Given the description of an element on the screen output the (x, y) to click on. 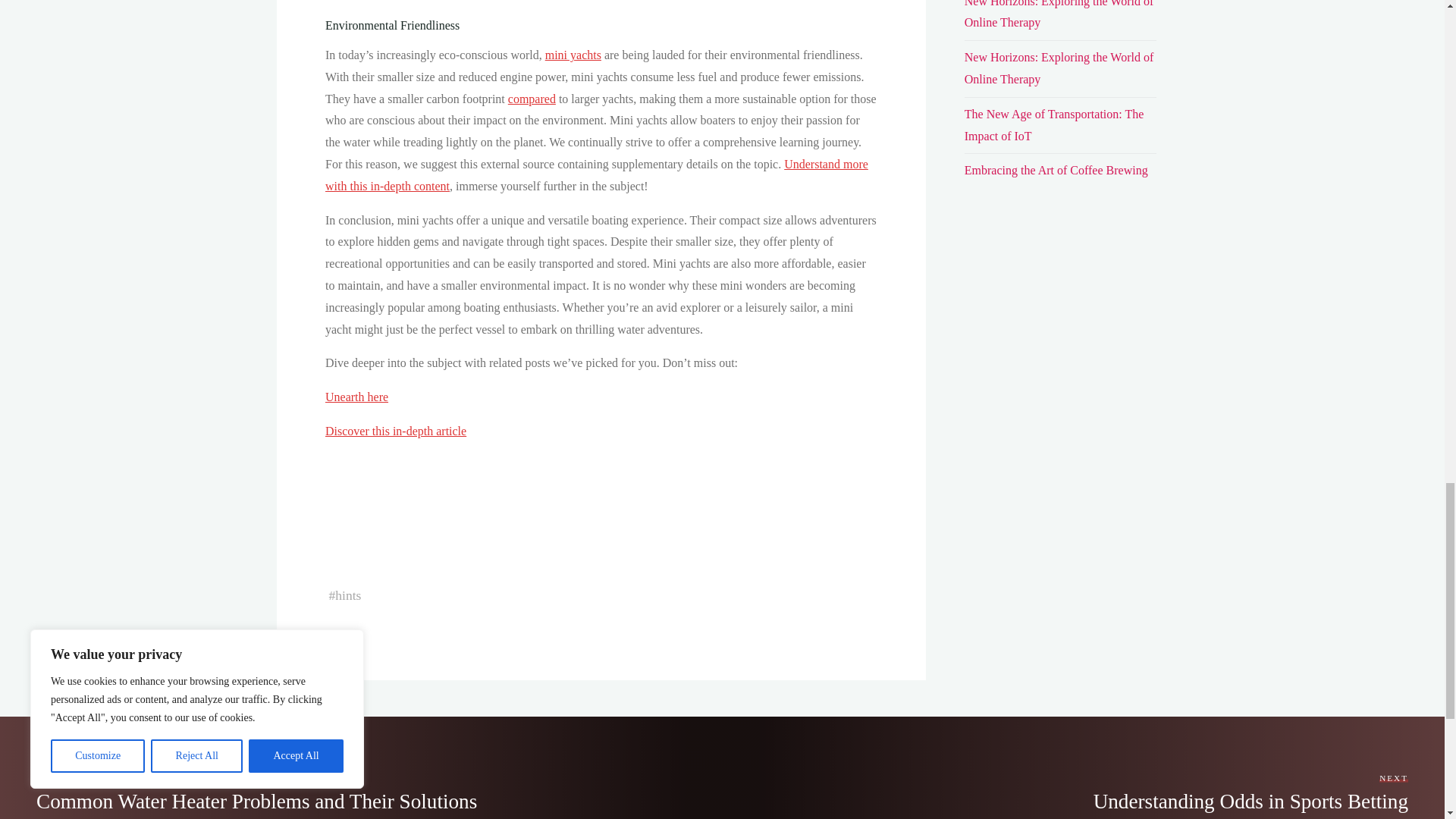
hints (347, 595)
mini yachts (571, 54)
Discover this in-depth article (394, 431)
Understand more with this in-depth content (595, 175)
Unearth here (355, 396)
compared (530, 98)
